Given the description of an element on the screen output the (x, y) to click on. 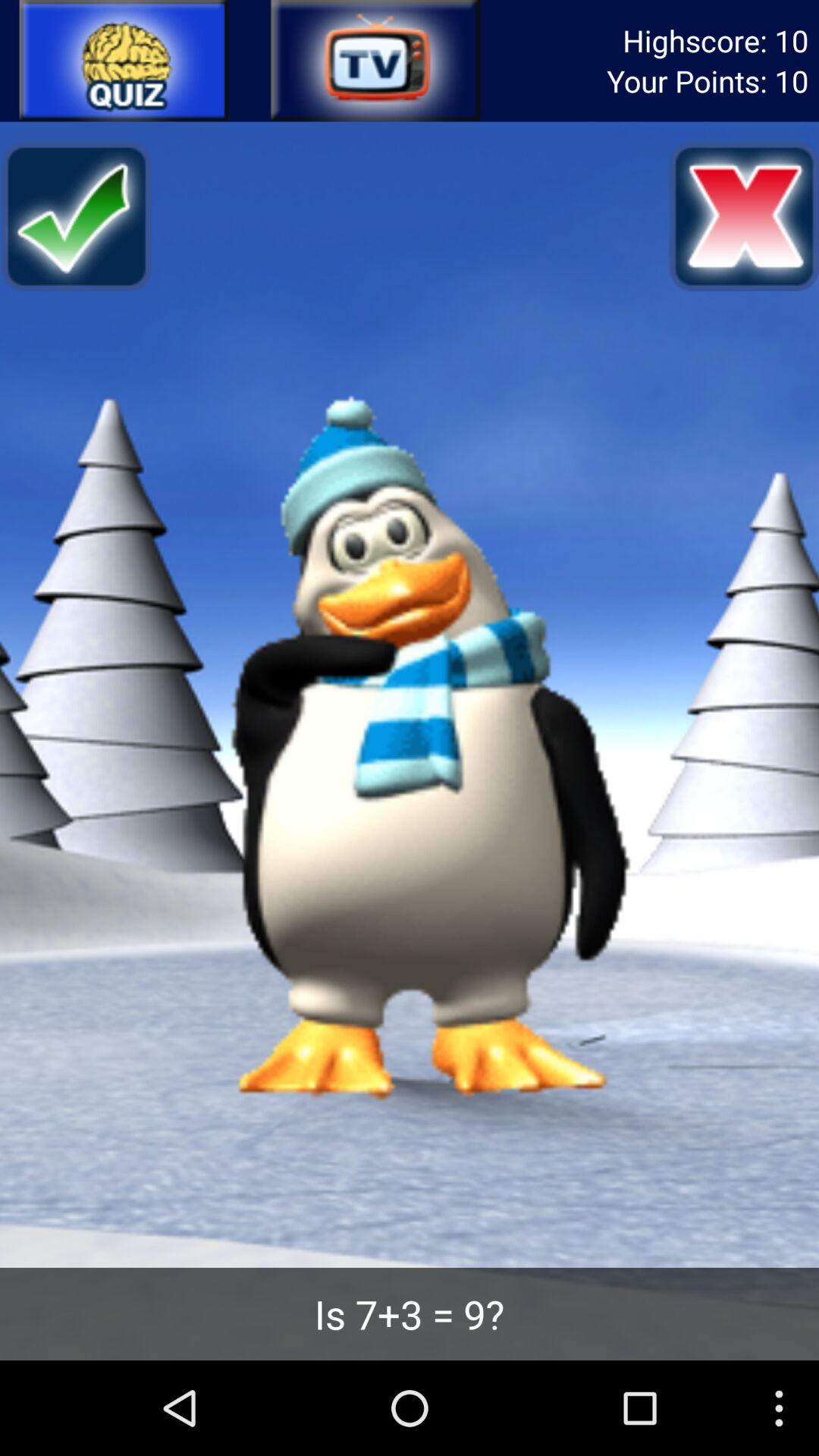
take quiz (124, 60)
